Given the description of an element on the screen output the (x, y) to click on. 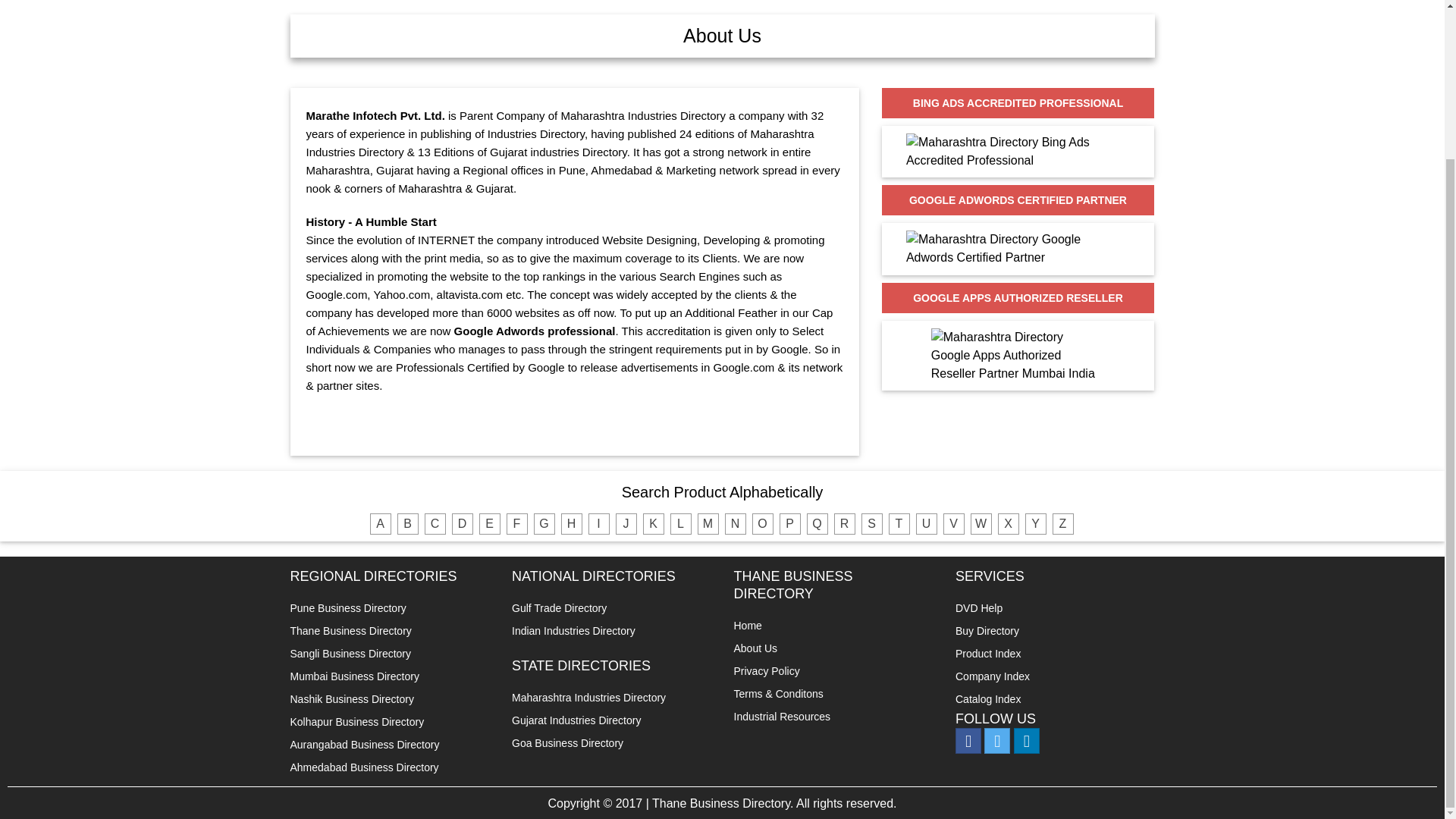
C (435, 523)
G (544, 523)
D (462, 523)
B (408, 523)
Maharashtra Directory Google Adwords Certified Partner (1017, 248)
A (380, 523)
H (571, 523)
I (599, 523)
E (489, 523)
